Given the description of an element on the screen output the (x, y) to click on. 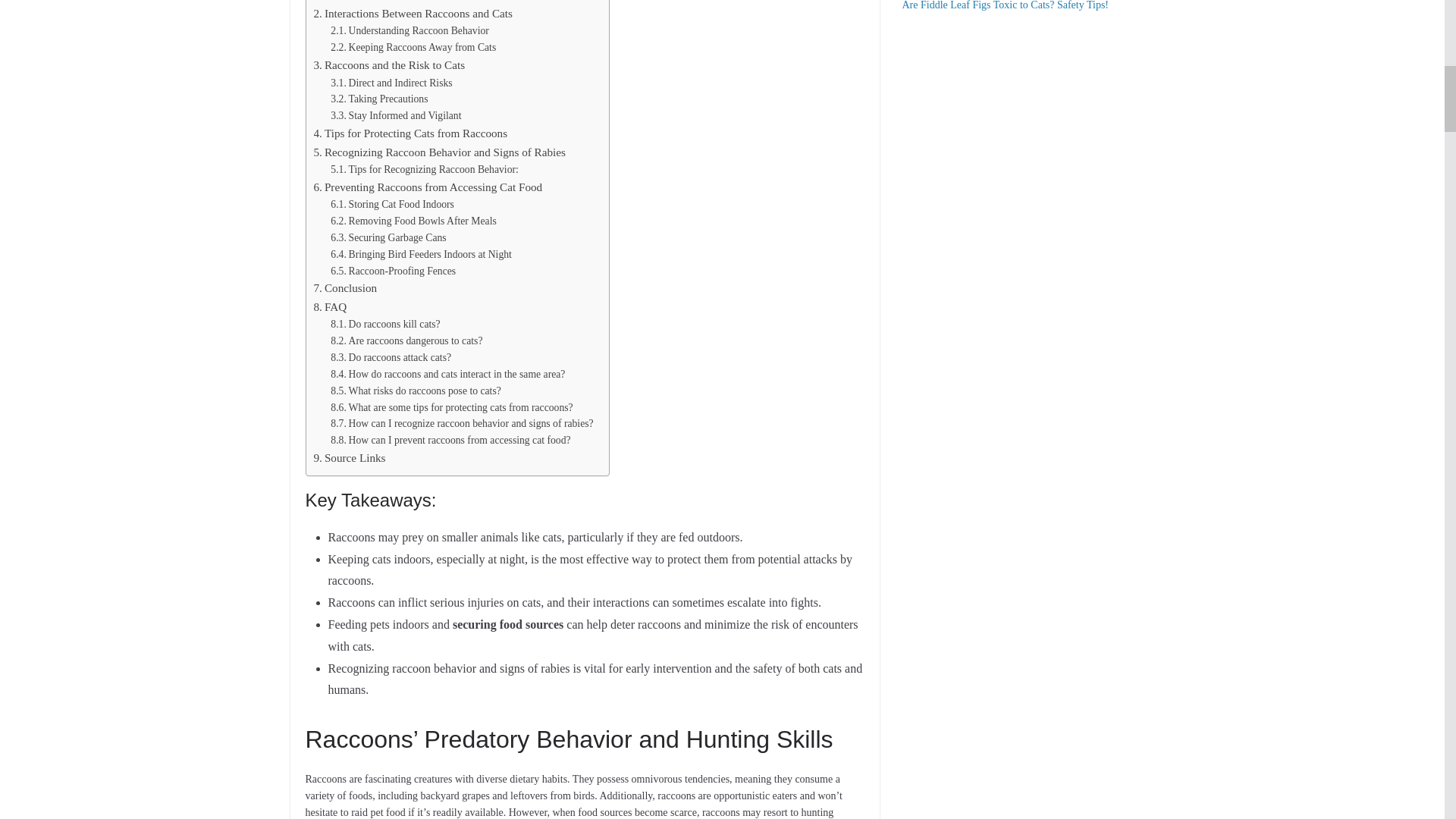
Recognizing Raccoon Behavior and Signs of Rabies (440, 152)
Do raccoons kill cats? (384, 324)
Direct and Indirect Risks (390, 83)
Tips for Protecting Cats from Raccoons (411, 133)
Interactions Between Raccoons and Cats (413, 13)
Keeping Raccoons Away from Cats (413, 47)
Raccoons and the Risk to Cats (389, 65)
Keeping Raccoons Away from Cats (413, 47)
Storing Cat Food Indoors (392, 204)
Stay Informed and Vigilant (395, 115)
Tips for Recognizing Raccoon Behavior: (424, 169)
Taking Precautions (379, 98)
Preventing Raccoons from Accessing Cat Food (428, 187)
Direct and Indirect Risks (390, 83)
Raccoon-Proofing Fences (392, 271)
